Given the description of an element on the screen output the (x, y) to click on. 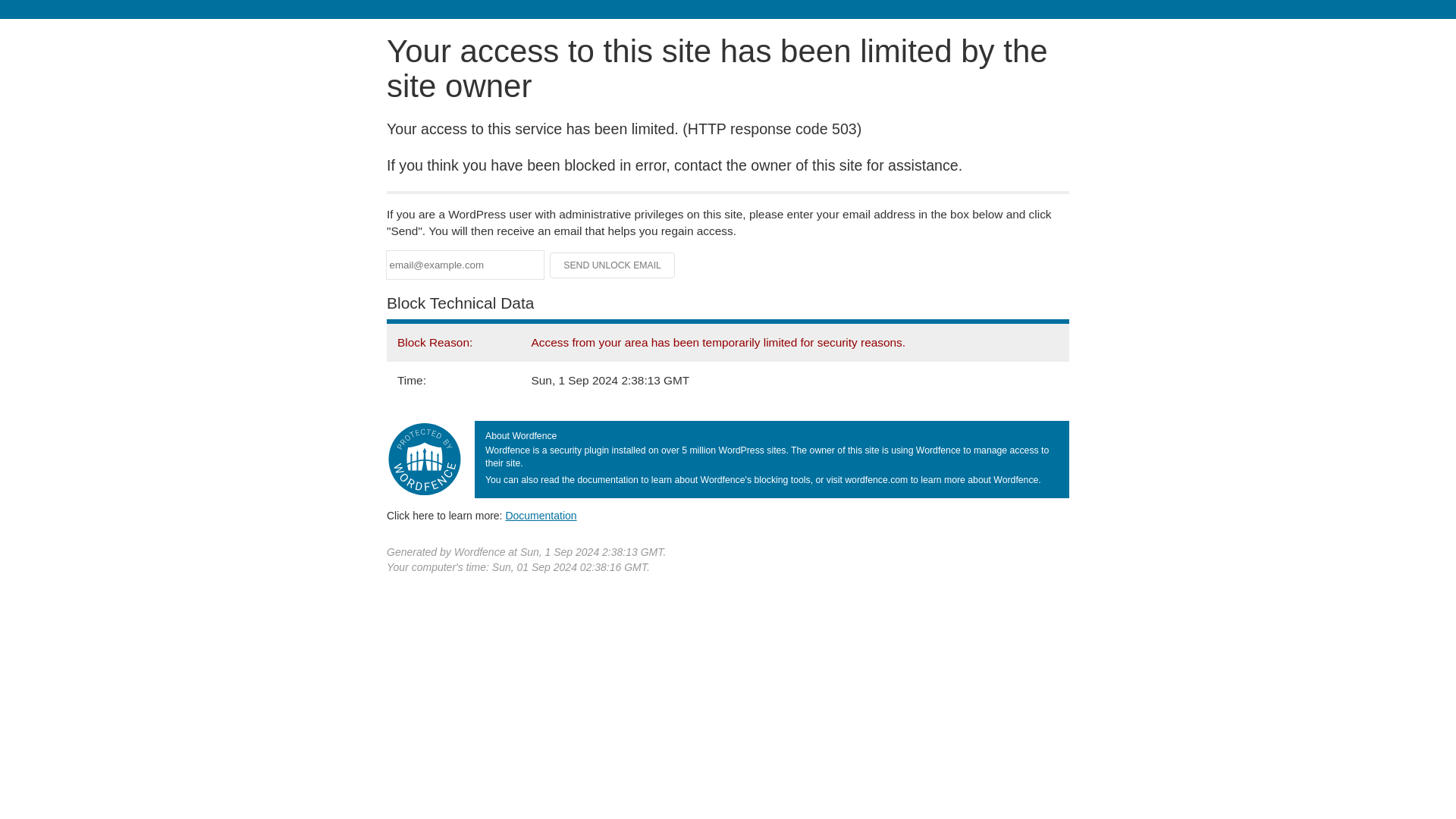
Send Unlock Email (612, 265)
Documentation (540, 515)
Send Unlock Email (612, 265)
